Given the description of an element on the screen output the (x, y) to click on. 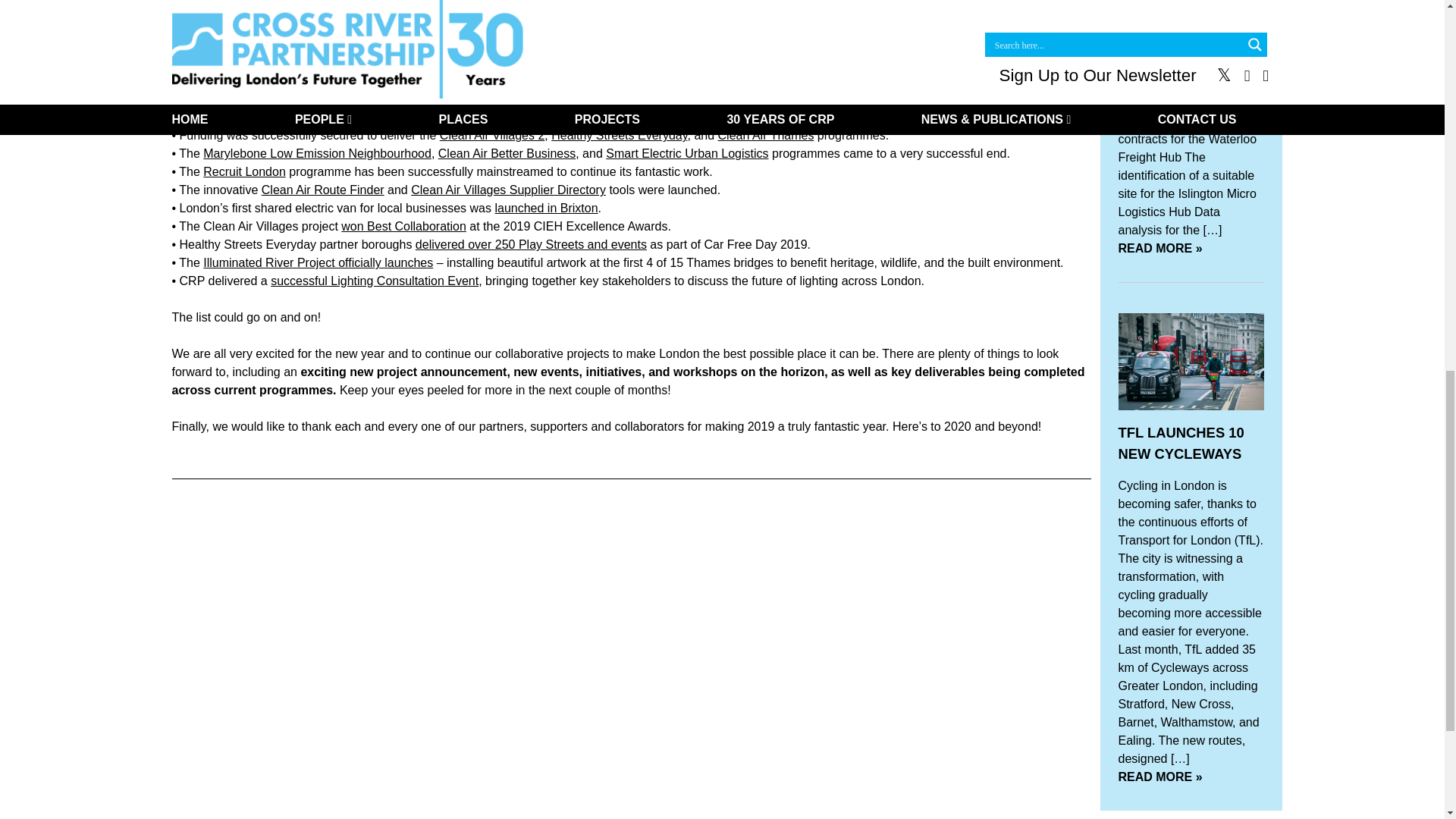
Cadogan Estate (311, 98)
Clean Air Better Business (506, 153)
Smart Electric Urban Logistics (686, 153)
Clean Air Route Finder (323, 189)
25th Anniversary (487, 116)
Brixton BID (210, 98)
Clean Air Villages 2 (491, 134)
Healthy Streets Everyday (619, 134)
Clean Air Thames (765, 134)
Marylebone Low Emission Neighbourhood (316, 153)
Clean Air Villages Supplier Directory (507, 189)
Recruit London (244, 171)
